Given the description of an element on the screen output the (x, y) to click on. 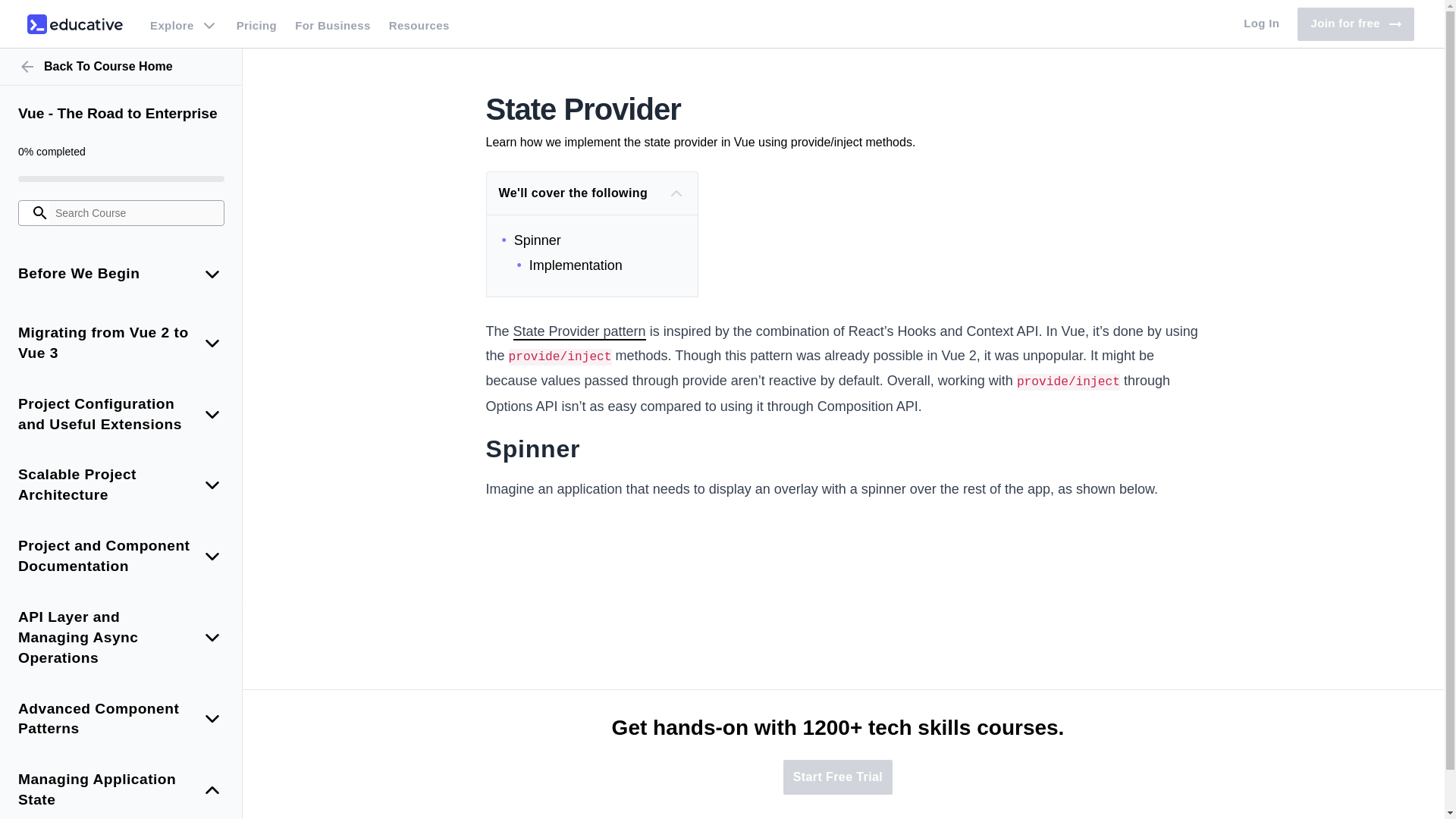
educative.io (74, 23)
Explore (184, 23)
Vue - The Road to Enterprise (121, 114)
For Business (332, 23)
Log In (1355, 23)
Back To Course Home (1261, 23)
Resources (121, 66)
Pricing (419, 23)
